Given the description of an element on the screen output the (x, y) to click on. 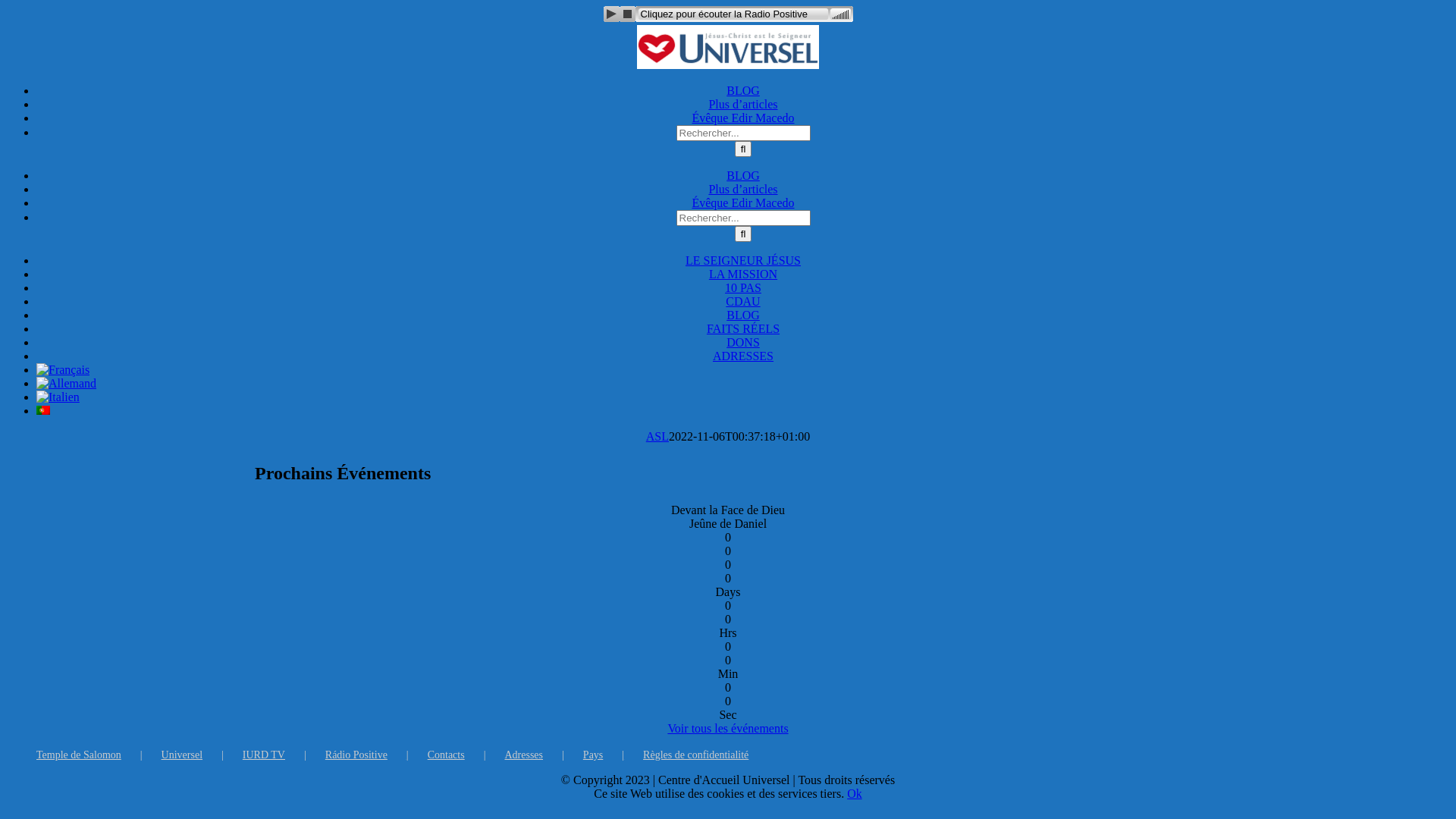
CDAU Element type: text (742, 300)
BLOG Element type: text (742, 314)
ASL Element type: text (657, 435)
Pays Element type: text (613, 755)
ADRESSES Element type: text (742, 355)
BLOG Element type: text (742, 175)
LA MISSION Element type: text (743, 273)
Passer au contenu Element type: text (727, 24)
Contacts Element type: text (466, 755)
Adresses Element type: text (543, 755)
Ok Element type: text (854, 793)
10 PAS Element type: text (742, 287)
DONS Element type: text (742, 341)
Temple de Salomon Element type: text (98, 755)
BLOG Element type: text (742, 90)
IURD TV Element type: text (283, 755)
Universel Element type: text (201, 755)
